Given the description of an element on the screen output the (x, y) to click on. 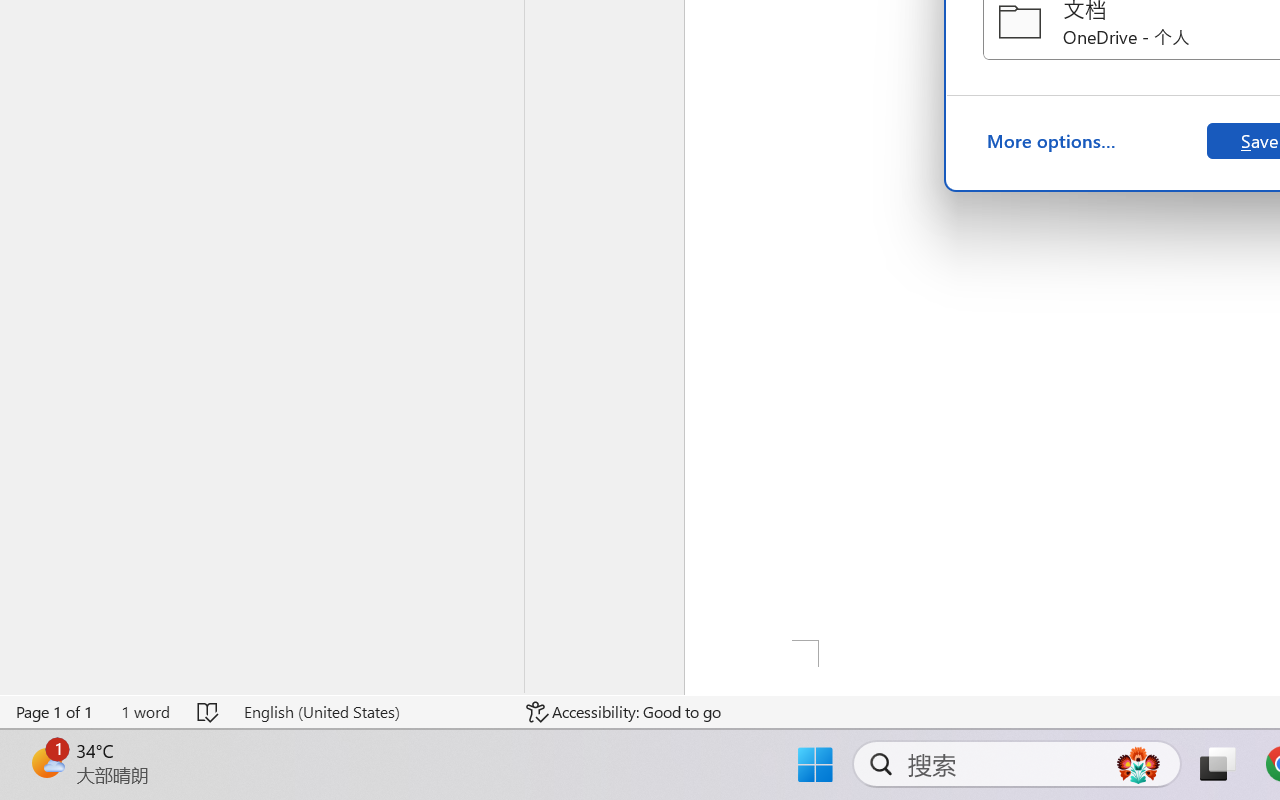
Spelling and Grammar Check No Errors (208, 712)
Accessibility Checker Accessibility: Good to go (623, 712)
AutomationID: BadgeAnchorLargeTicker (46, 762)
Language English (United States) (370, 712)
Word Count 1 word (145, 712)
AutomationID: DynamicSearchBoxGleamImage (1138, 764)
Page Number Page 1 of 1 (55, 712)
